Given the description of an element on the screen output the (x, y) to click on. 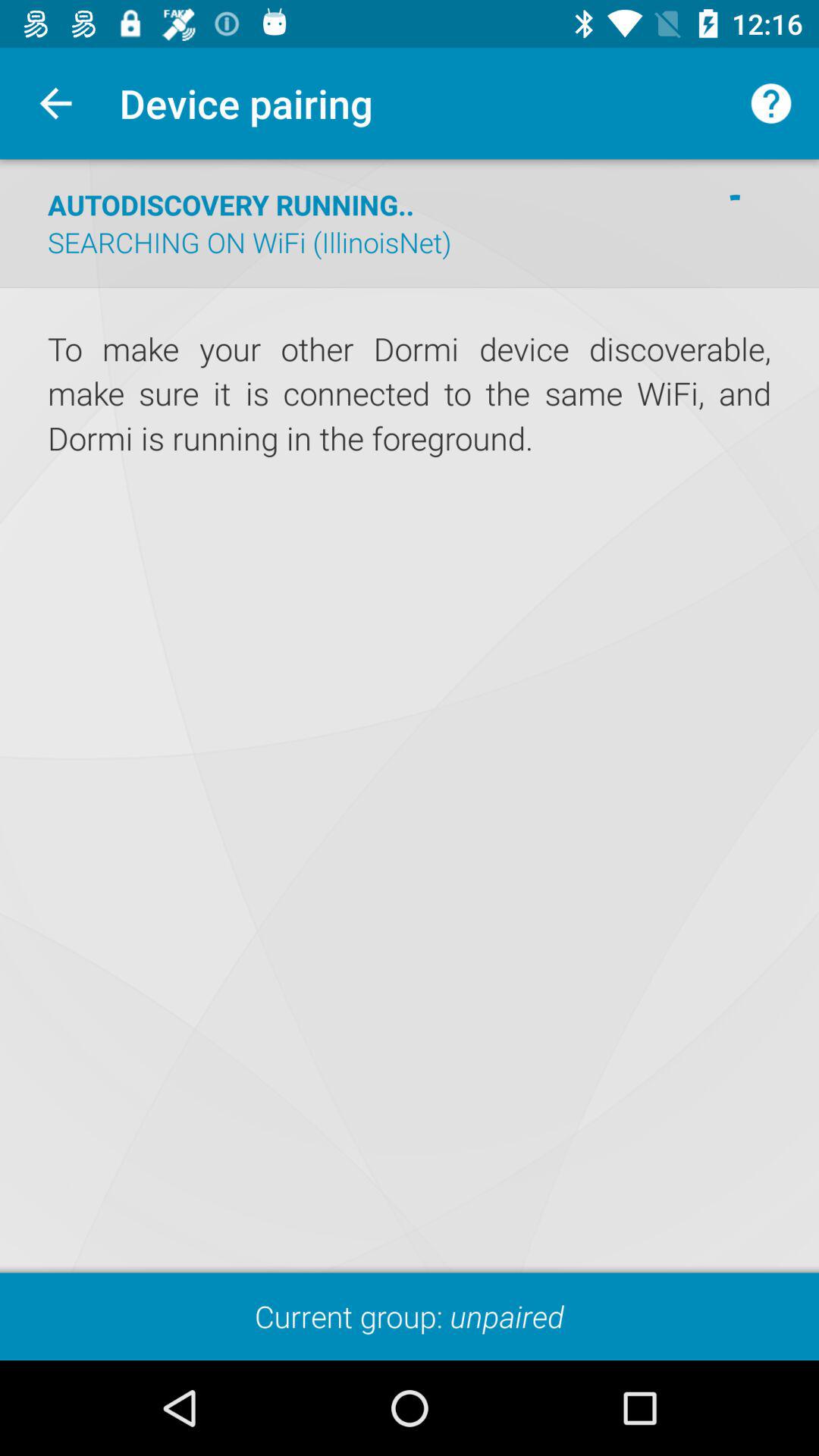
tap icon above to make your item (409, 287)
